Given the description of an element on the screen output the (x, y) to click on. 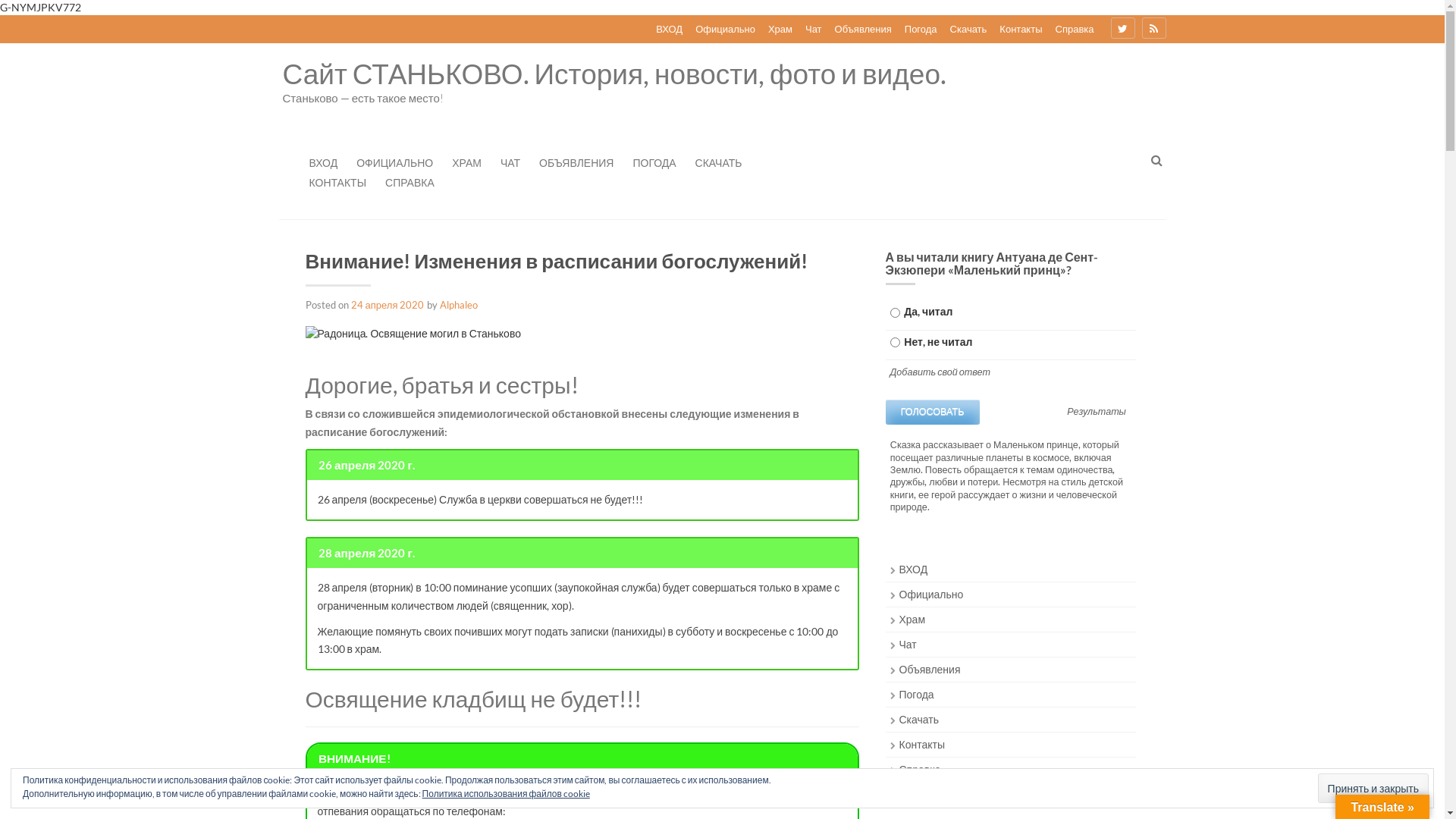
Alphaleo Element type: text (458, 304)
